Given the description of an element on the screen output the (x, y) to click on. 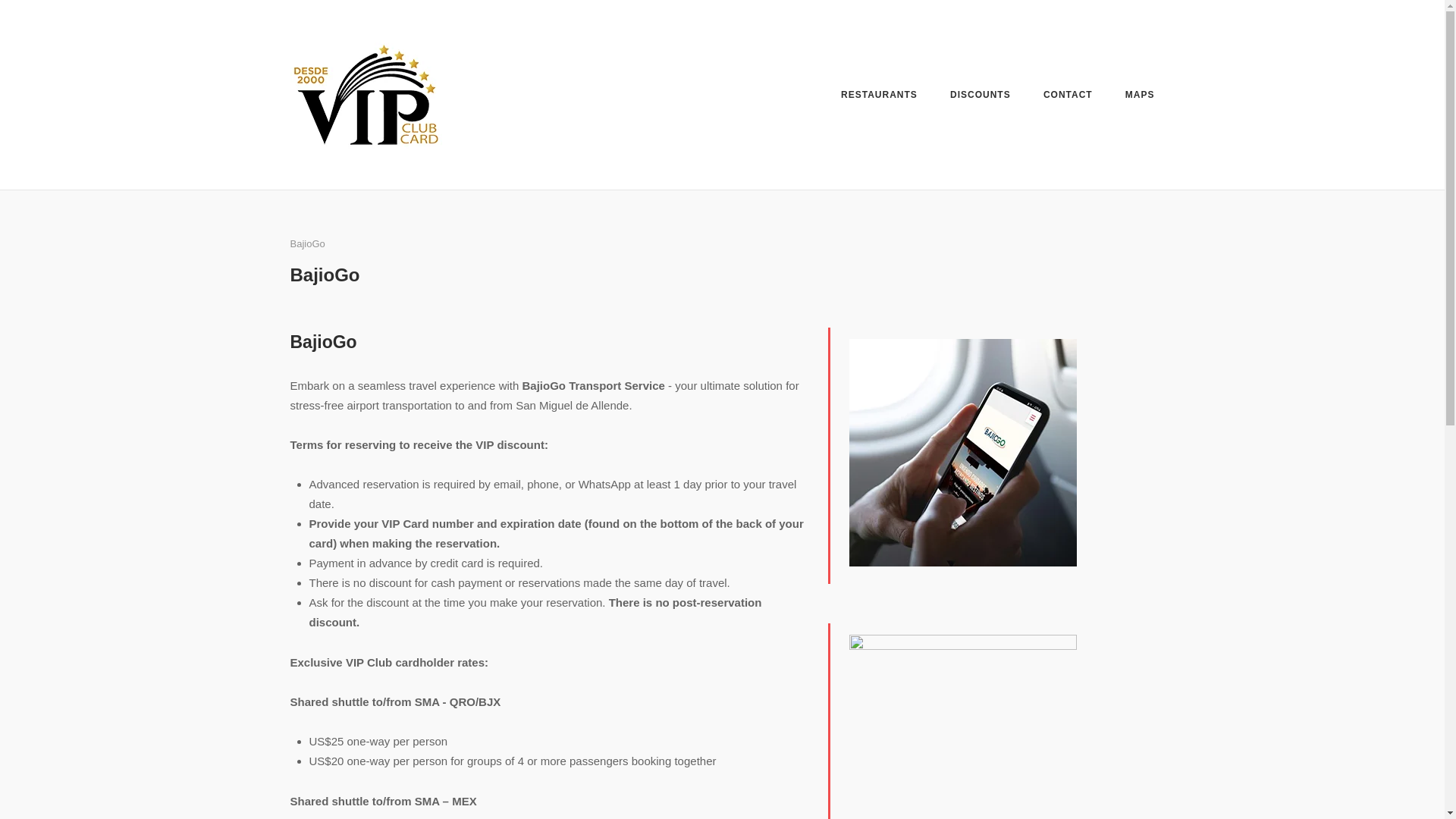
RESTAURANTS (879, 97)
DISCOUNTS (980, 96)
MAPS (1139, 96)
CONTACT (1068, 97)
